Given the description of an element on the screen output the (x, y) to click on. 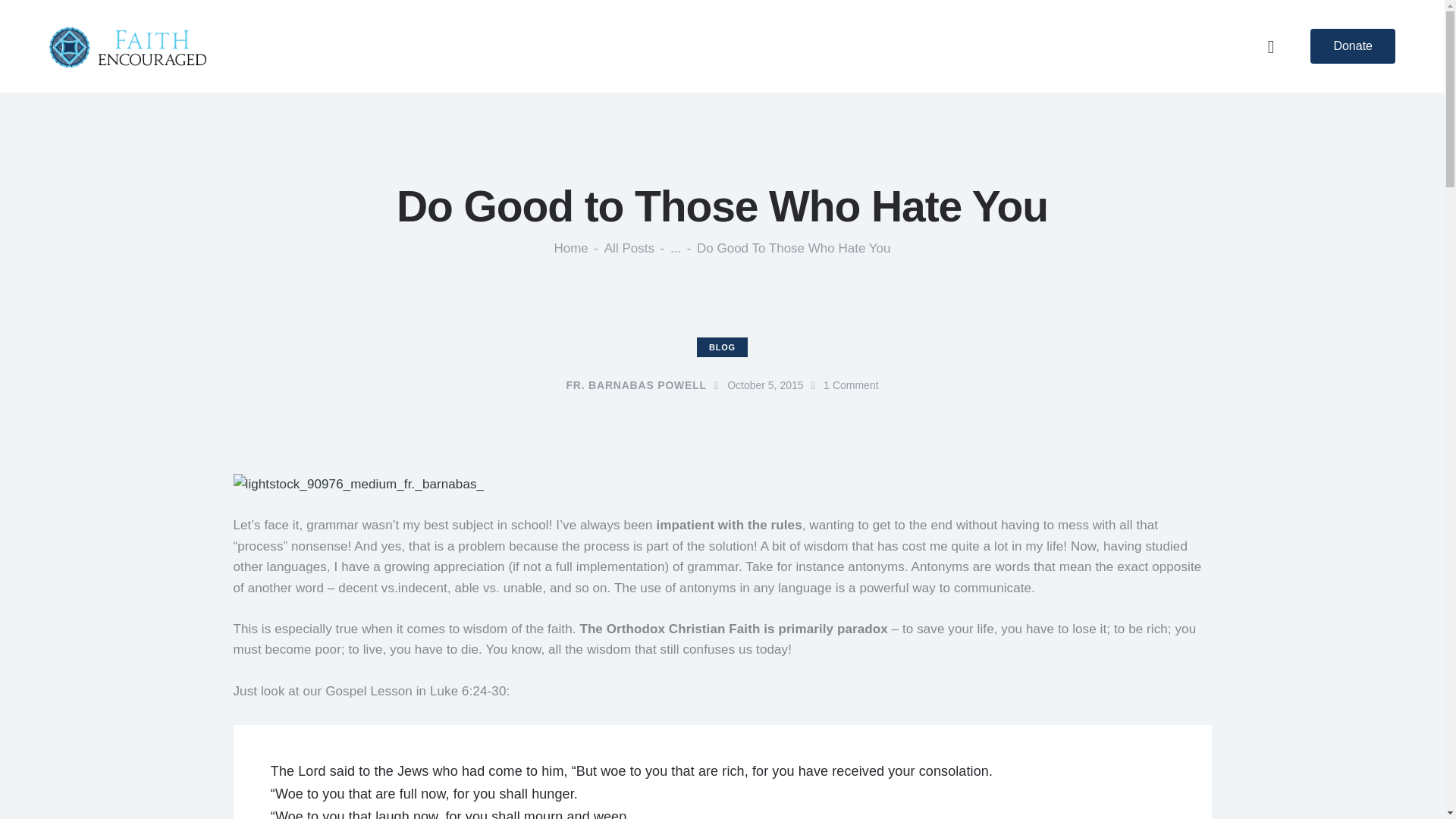
All Posts (628, 247)
Home (570, 248)
BLOG (722, 347)
FR. BARNABAS POWELL (644, 385)
Donate (1352, 45)
1Comment (851, 385)
